Given the description of an element on the screen output the (x, y) to click on. 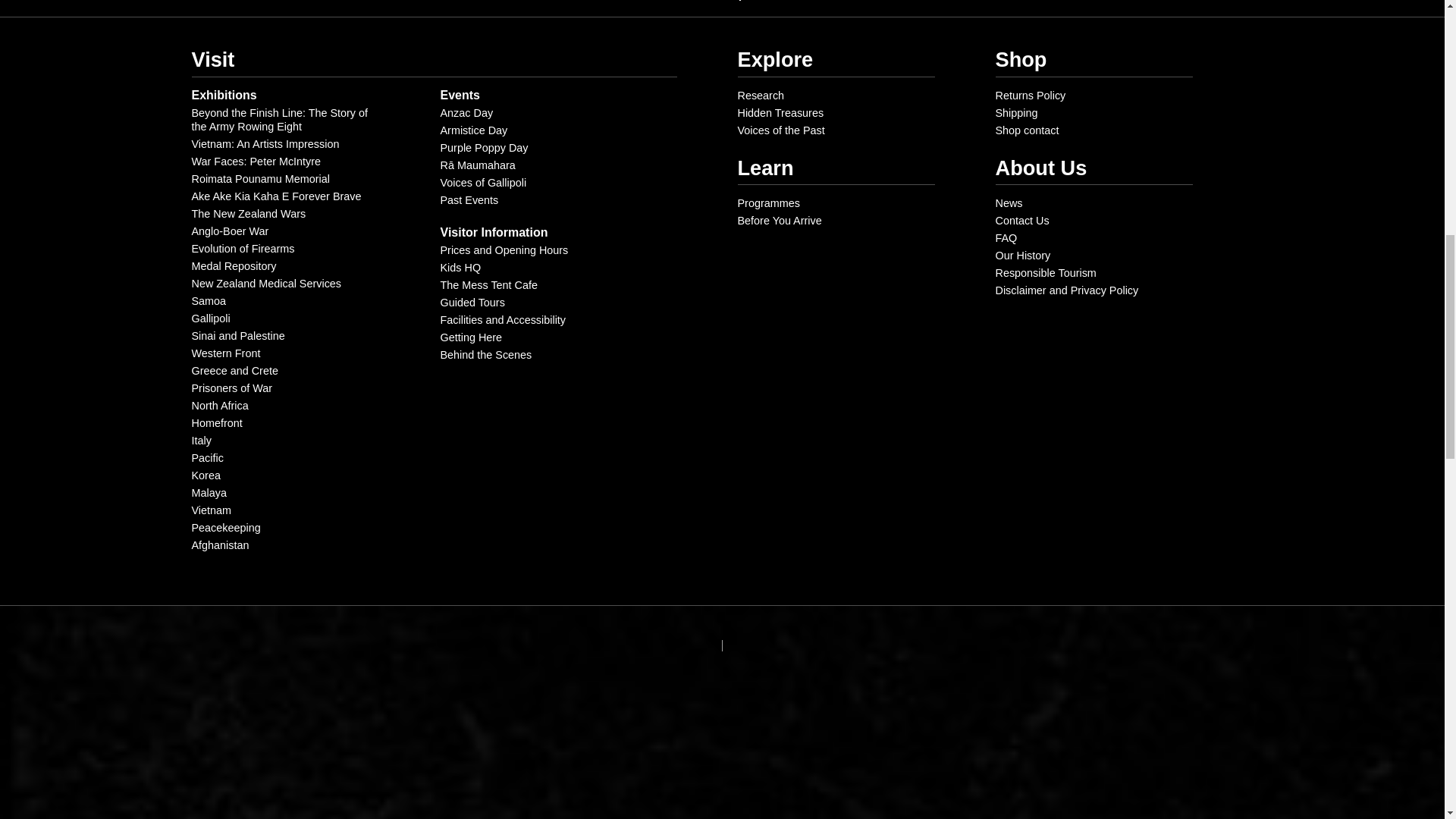
Sinai and Palestine (236, 336)
Malaya (207, 492)
New Zealand Medical Services (265, 283)
Ake Ake Kia Kaha E Forever Brave (275, 196)
Returns policy (1029, 95)
Anglo-Boer War (228, 231)
Visit (212, 59)
War Faces: Peter McIntyre (255, 161)
Shipping (1015, 112)
Western Front (225, 353)
